Given the description of an element on the screen output the (x, y) to click on. 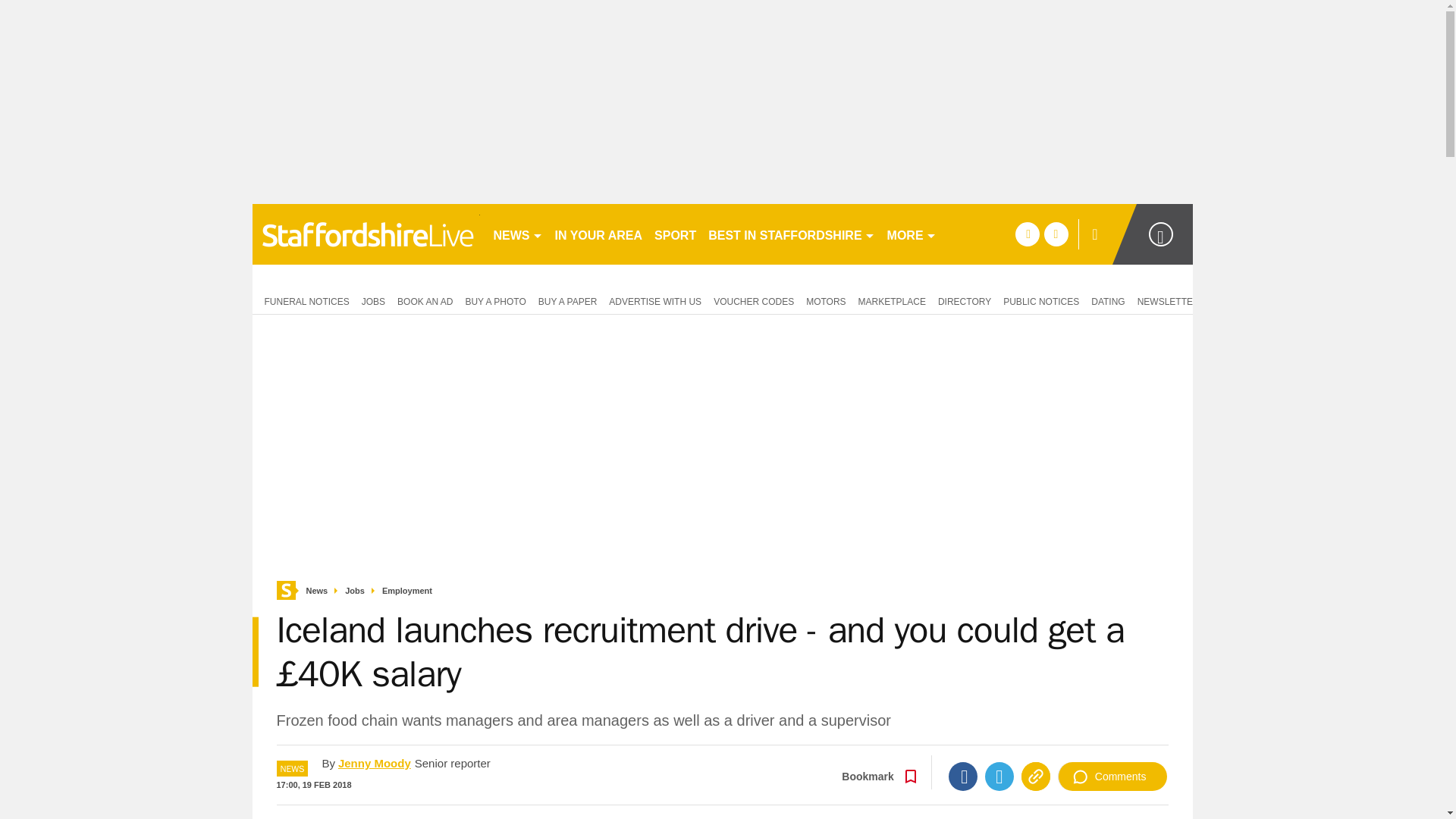
Facebook (962, 776)
BOOK AN AD (424, 300)
NEWS (517, 233)
FUNERAL NOTICES (303, 300)
BUY A PAPER (568, 300)
Twitter (999, 776)
MARKETPLACE (891, 300)
VOUCHER CODES (753, 300)
MORE (911, 233)
Comments (1112, 776)
